Given the description of an element on the screen output the (x, y) to click on. 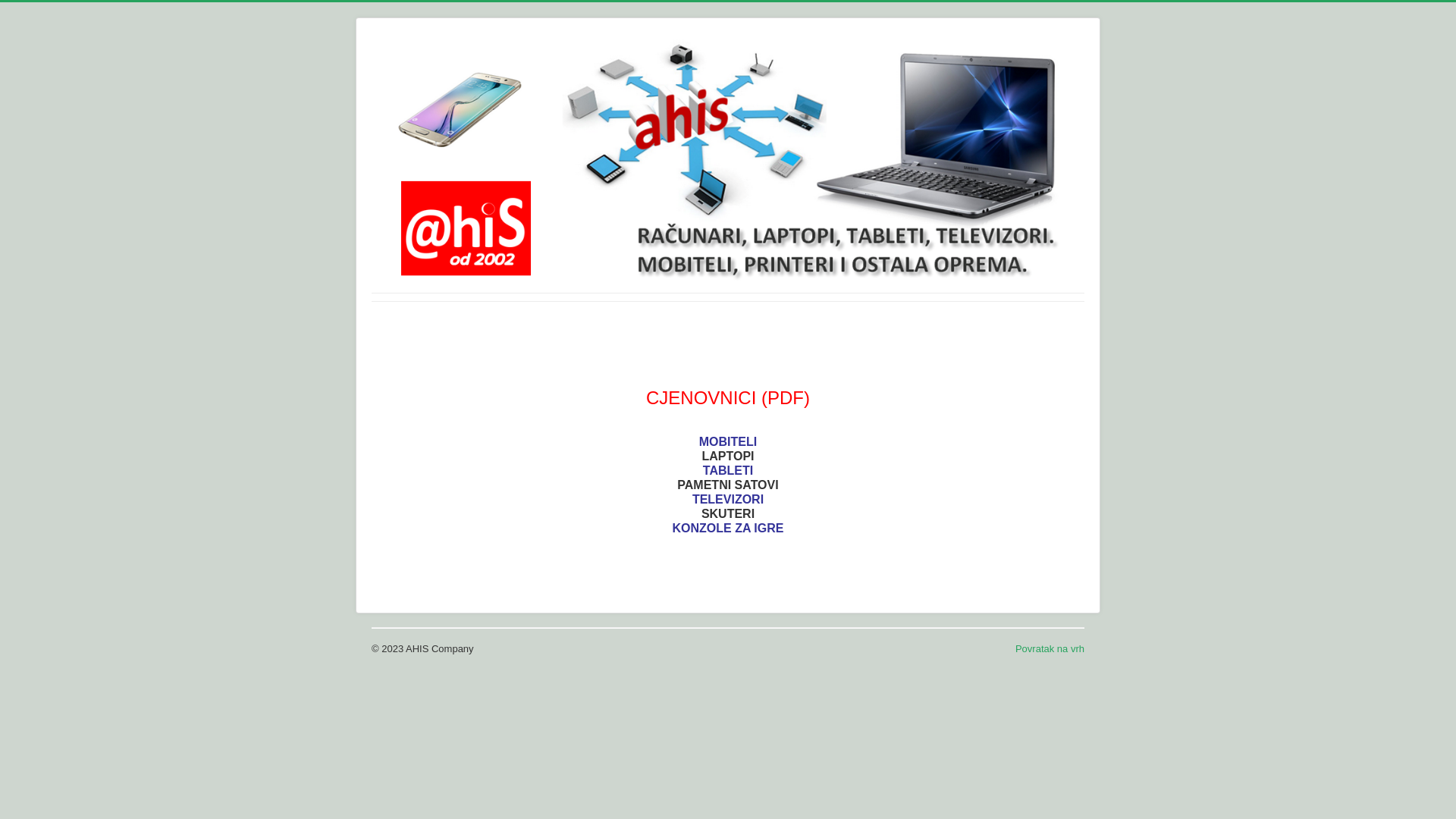
LAPTOPI Element type: text (727, 455)
TABLETI Element type: text (727, 470)
SKUTERI Element type: text (727, 513)
MOBITELI Element type: text (727, 441)
TELEVIZORI Element type: text (727, 498)
KONZOLE ZA IGRE Element type: text (728, 527)
PAMETNI SATOVI Element type: text (727, 484)
Povratak na vrh Element type: text (1049, 648)
